Given the description of an element on the screen output the (x, y) to click on. 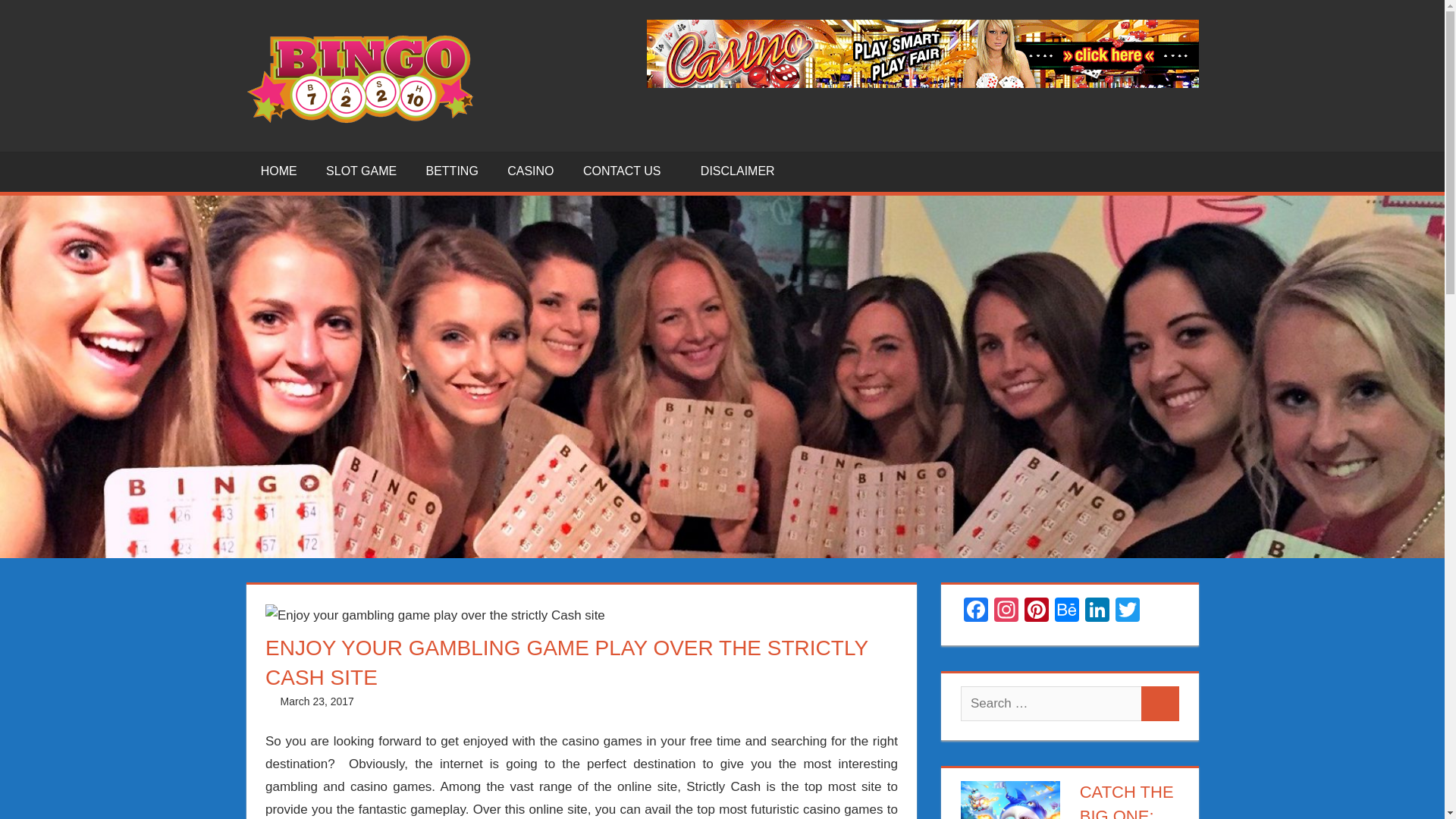
Search for: (1050, 703)
Behance (1066, 611)
HOME (278, 171)
Twitter (1127, 611)
Search (1160, 703)
March 23, 2017 (317, 701)
DISCLAIMER (737, 171)
Facebook (975, 611)
Pinterest (1036, 611)
LinkedIn (1096, 611)
